Given the description of an element on the screen output the (x, y) to click on. 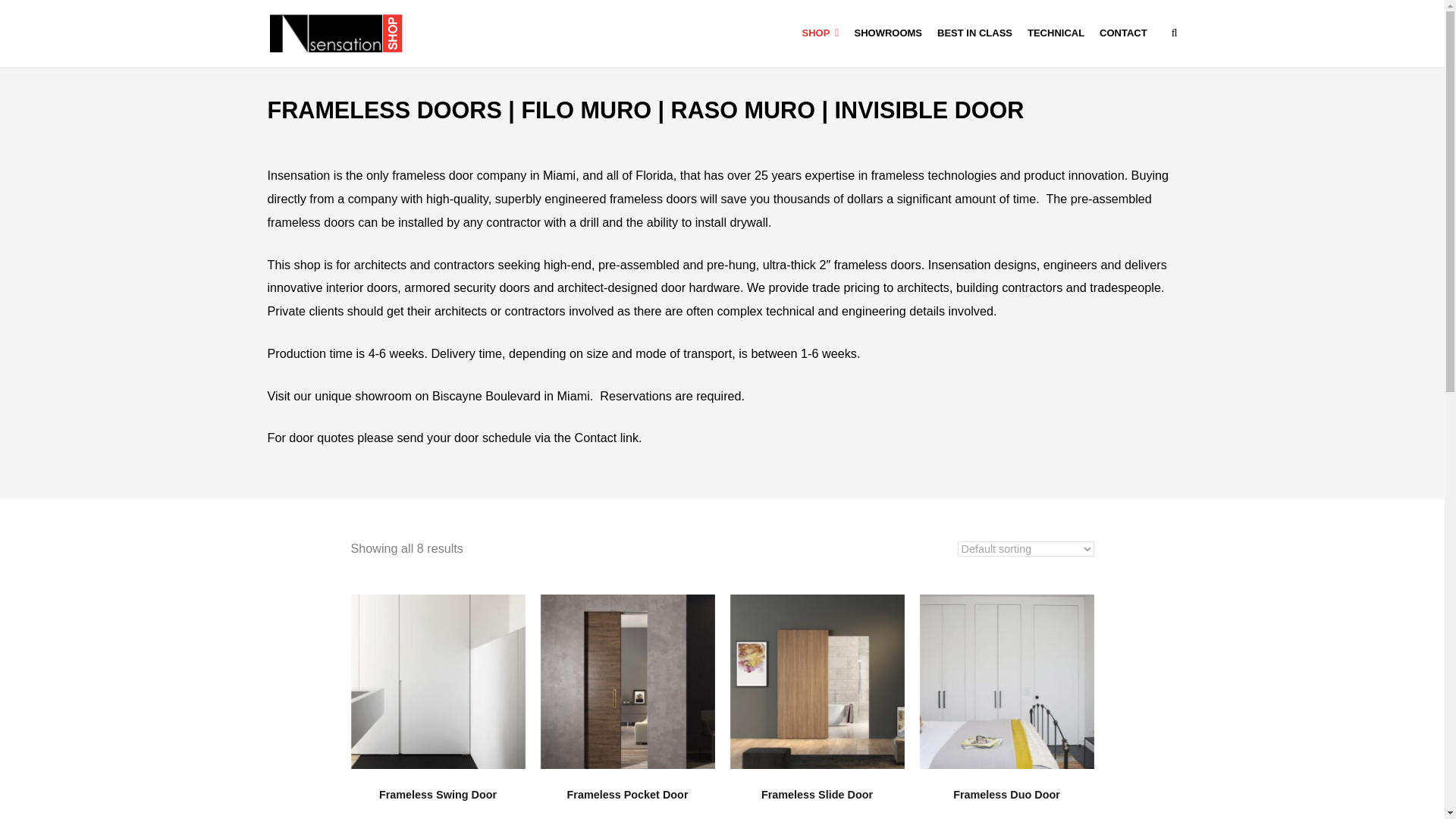
SHOWROOMS (887, 33)
BEST IN CLASS (975, 33)
TECHNICAL (1056, 33)
